Given the description of an element on the screen output the (x, y) to click on. 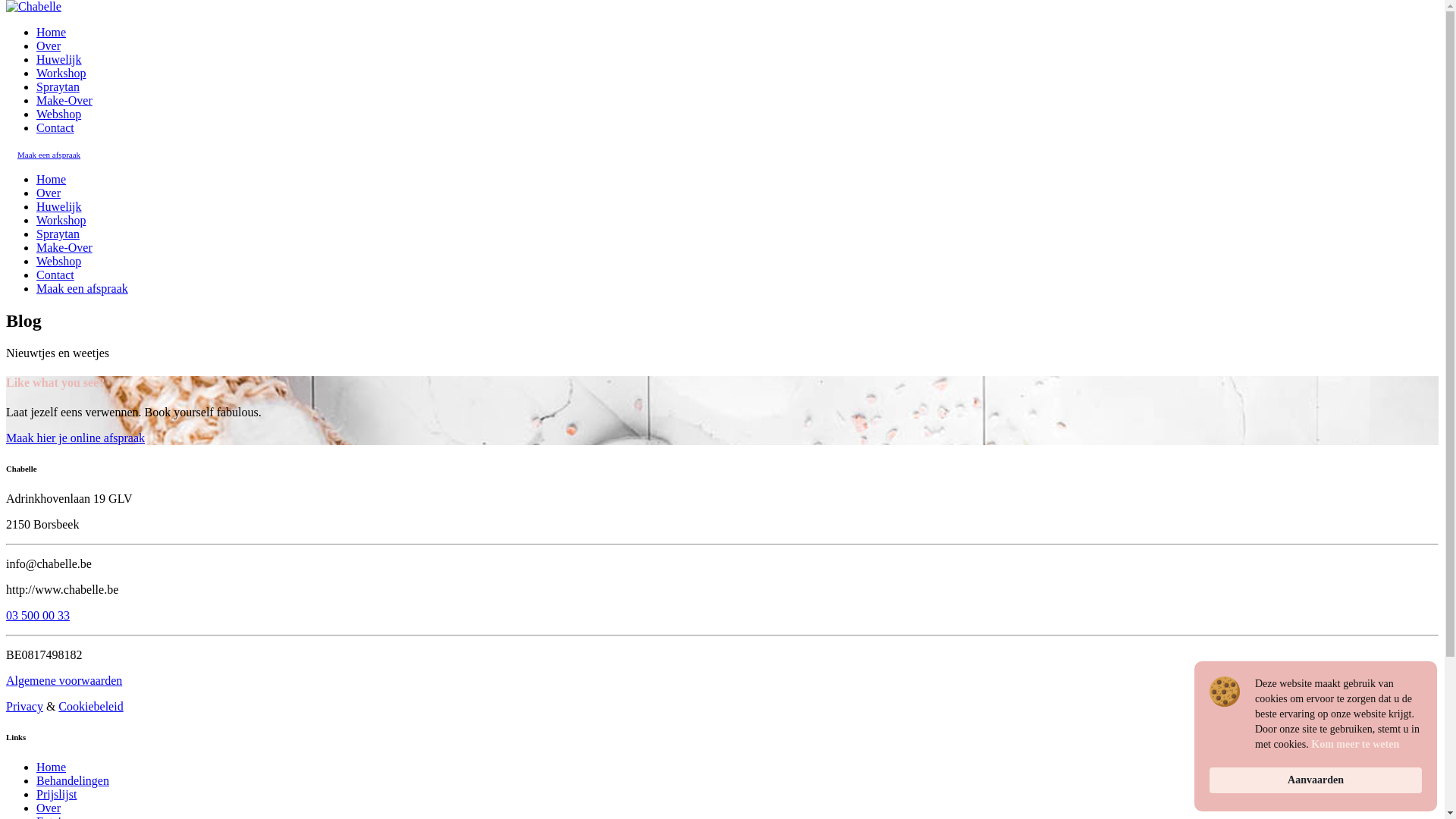
Spraytan Element type: text (57, 86)
Behandelingen Element type: text (72, 780)
Algemene voorwaarden Element type: text (64, 680)
Huwelijk Element type: text (58, 206)
Contact Element type: text (55, 274)
Contact Element type: text (55, 127)
Kom meer te weten Element type: text (1355, 744)
Webshop Element type: text (58, 260)
Cookiebeleid Element type: text (90, 705)
Maak een afspraak Element type: text (48, 154)
Make-Over Element type: text (64, 247)
Workshop Element type: text (60, 219)
Spraytan Element type: text (57, 233)
Home Element type: text (50, 178)
Home Element type: text (50, 766)
Webshop Element type: text (58, 113)
03 500 00 33 Element type: text (37, 614)
Huwelijk Element type: text (58, 59)
Workshop Element type: text (60, 72)
Over Element type: text (48, 192)
Maak hier je online afspraak Element type: text (75, 437)
Make-Over Element type: text (64, 100)
Maak een afspraak Element type: text (82, 288)
Prijslijst Element type: text (56, 793)
Privacy Element type: text (24, 705)
Over Element type: text (48, 45)
Over Element type: text (48, 807)
Home Element type: text (50, 31)
